Given the description of an element on the screen output the (x, y) to click on. 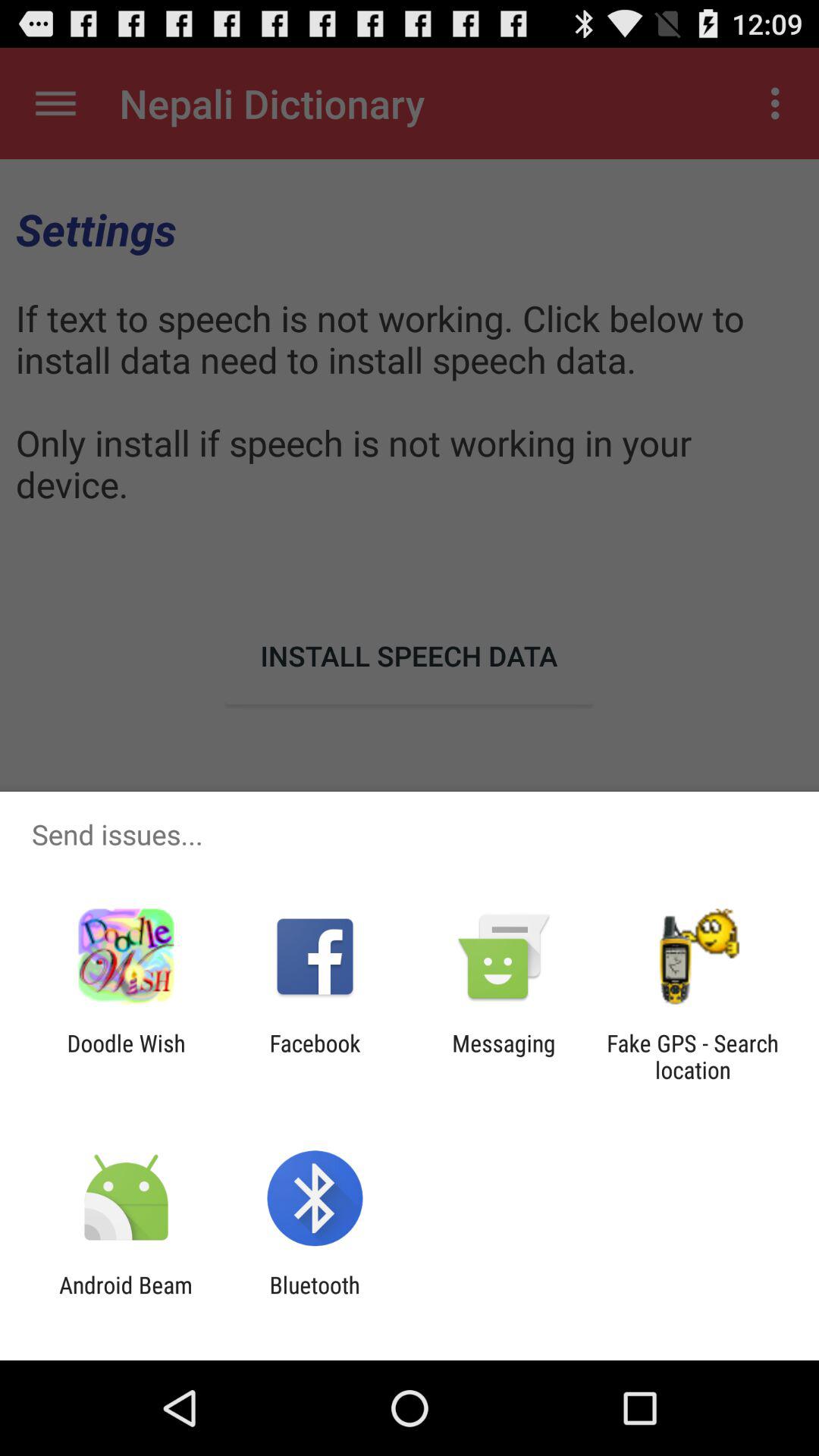
select the app to the left of the fake gps search item (503, 1056)
